Given the description of an element on the screen output the (x, y) to click on. 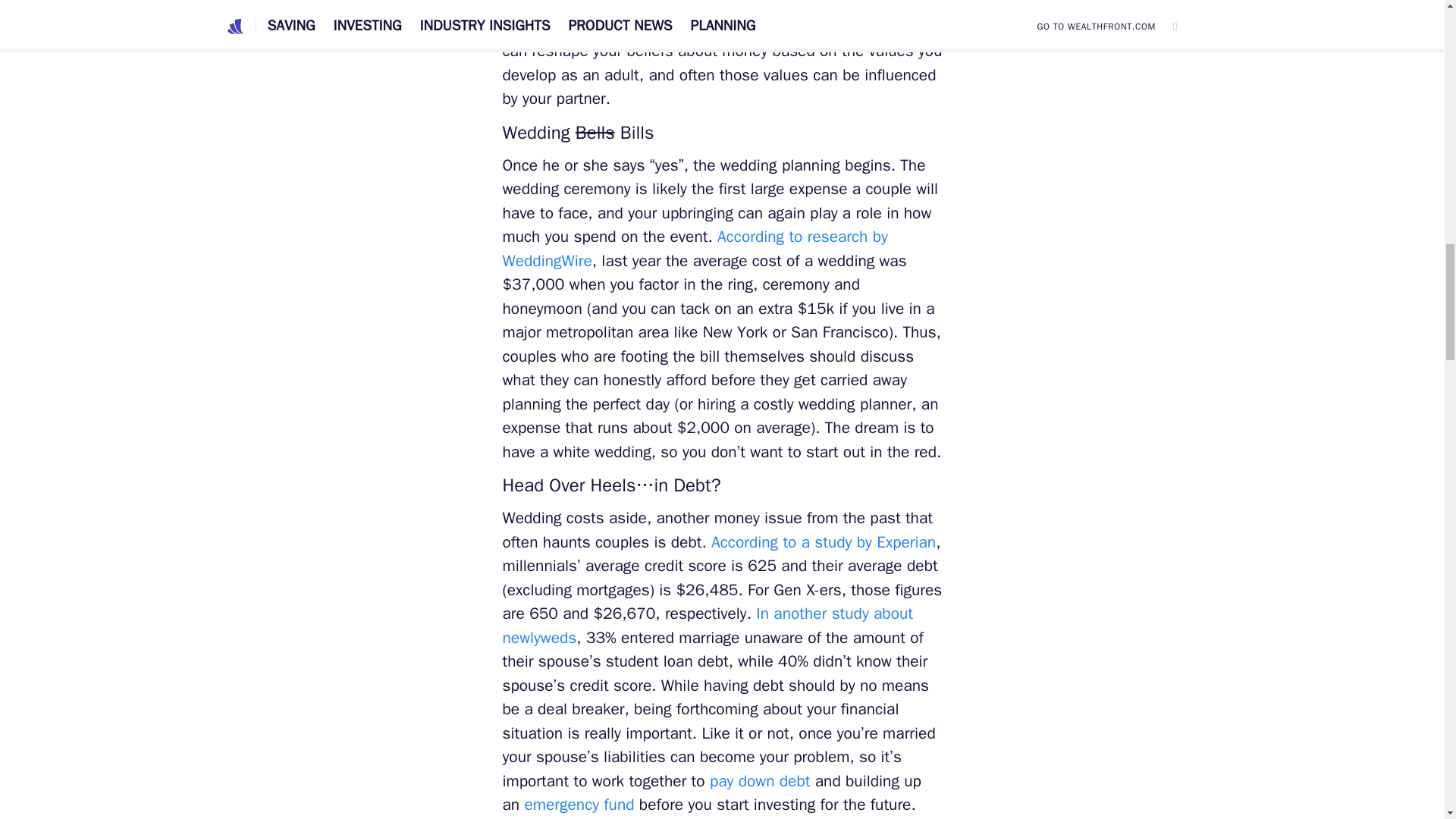
another study about newlyweds (707, 625)
emergency fund (578, 804)
pay down debt (760, 781)
study by Experian (874, 542)
According to a (762, 542)
According to research by WeddingWire (694, 248)
